Given the description of an element on the screen output the (x, y) to click on. 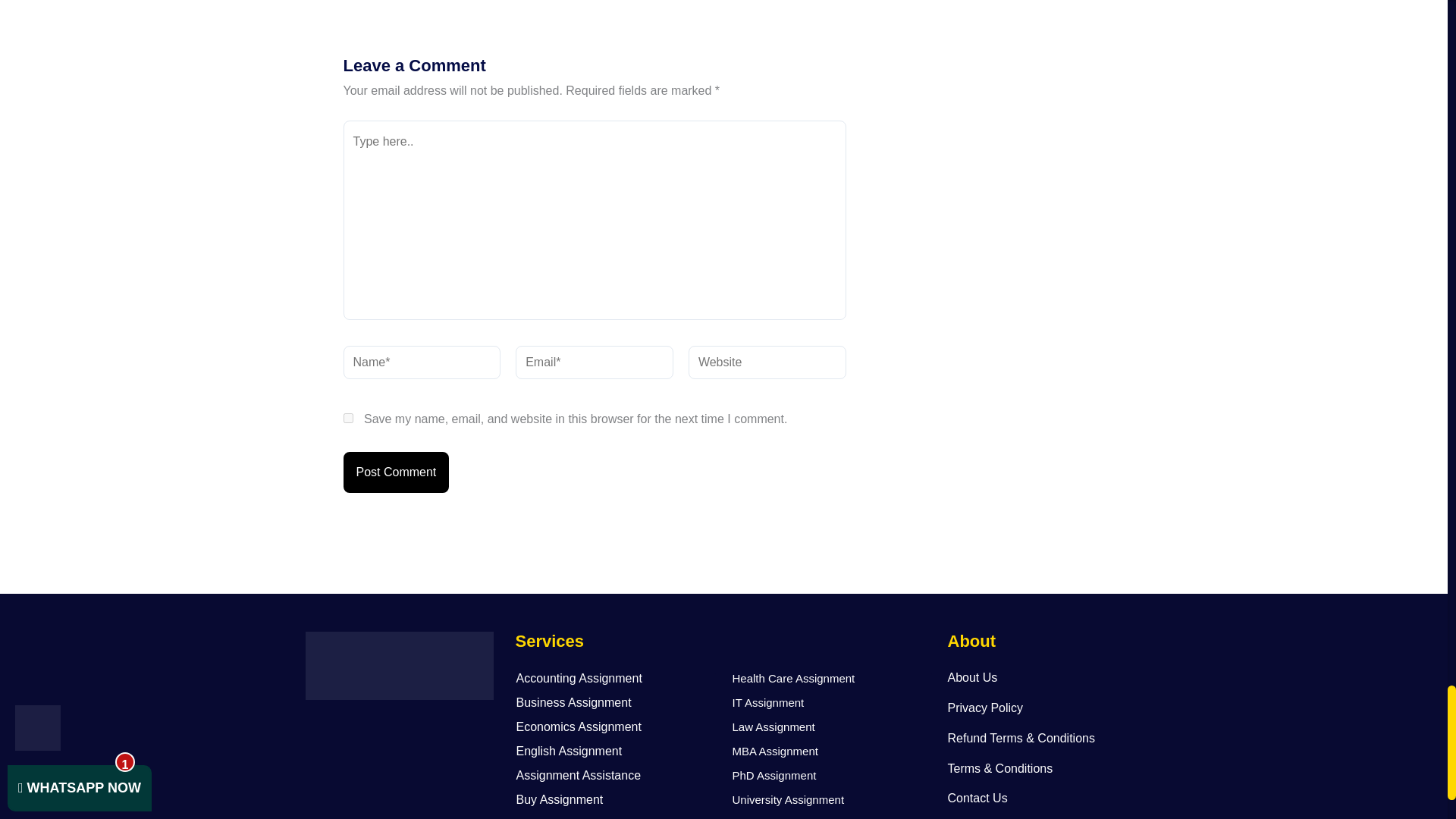
yes (347, 418)
Post Comment (395, 472)
